Given the description of an element on the screen output the (x, y) to click on. 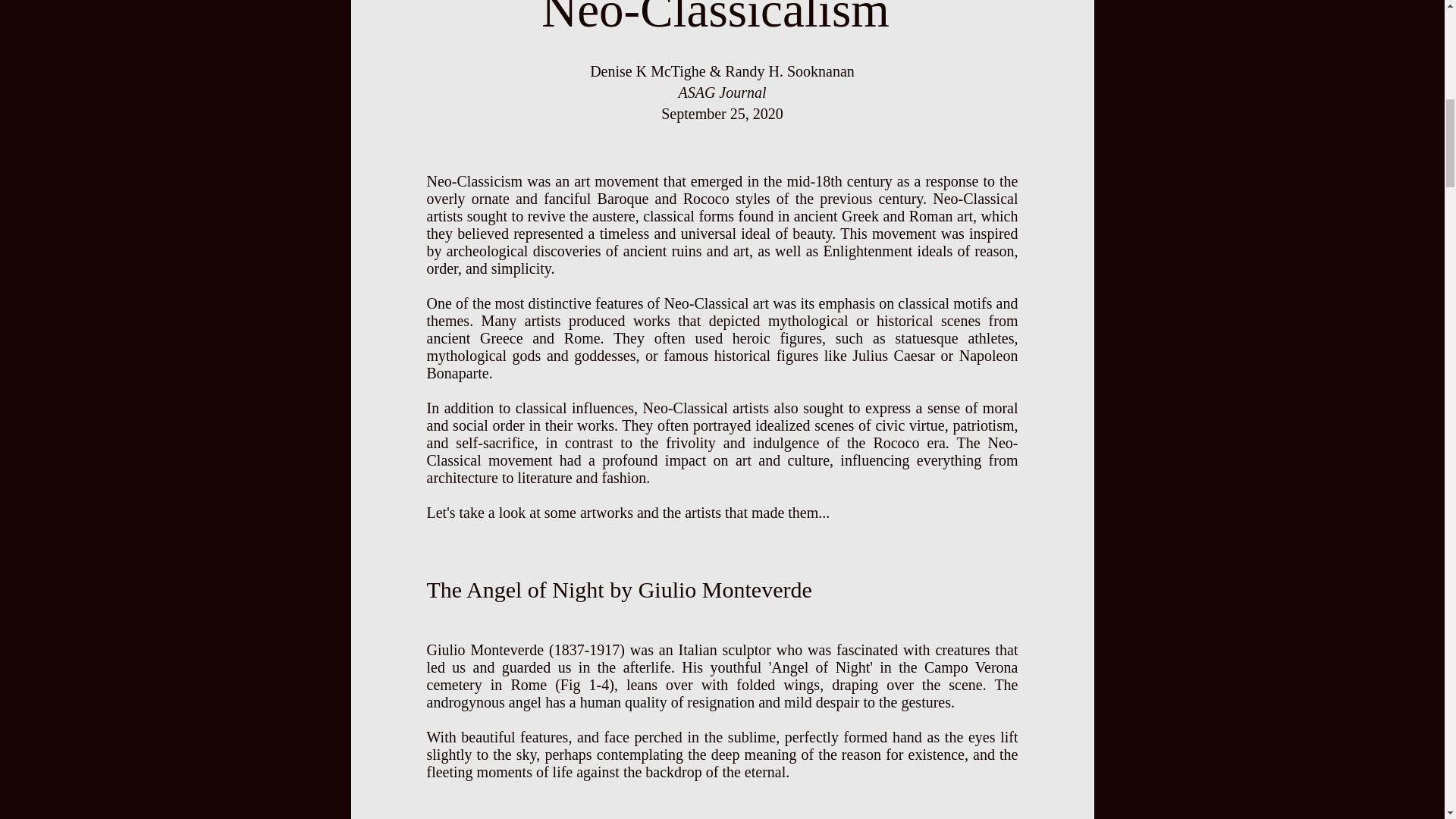
by Giulio Monteverde (711, 589)
The Angel of Night  (518, 589)
ASAG Journal (721, 92)
